Given the description of an element on the screen output the (x, y) to click on. 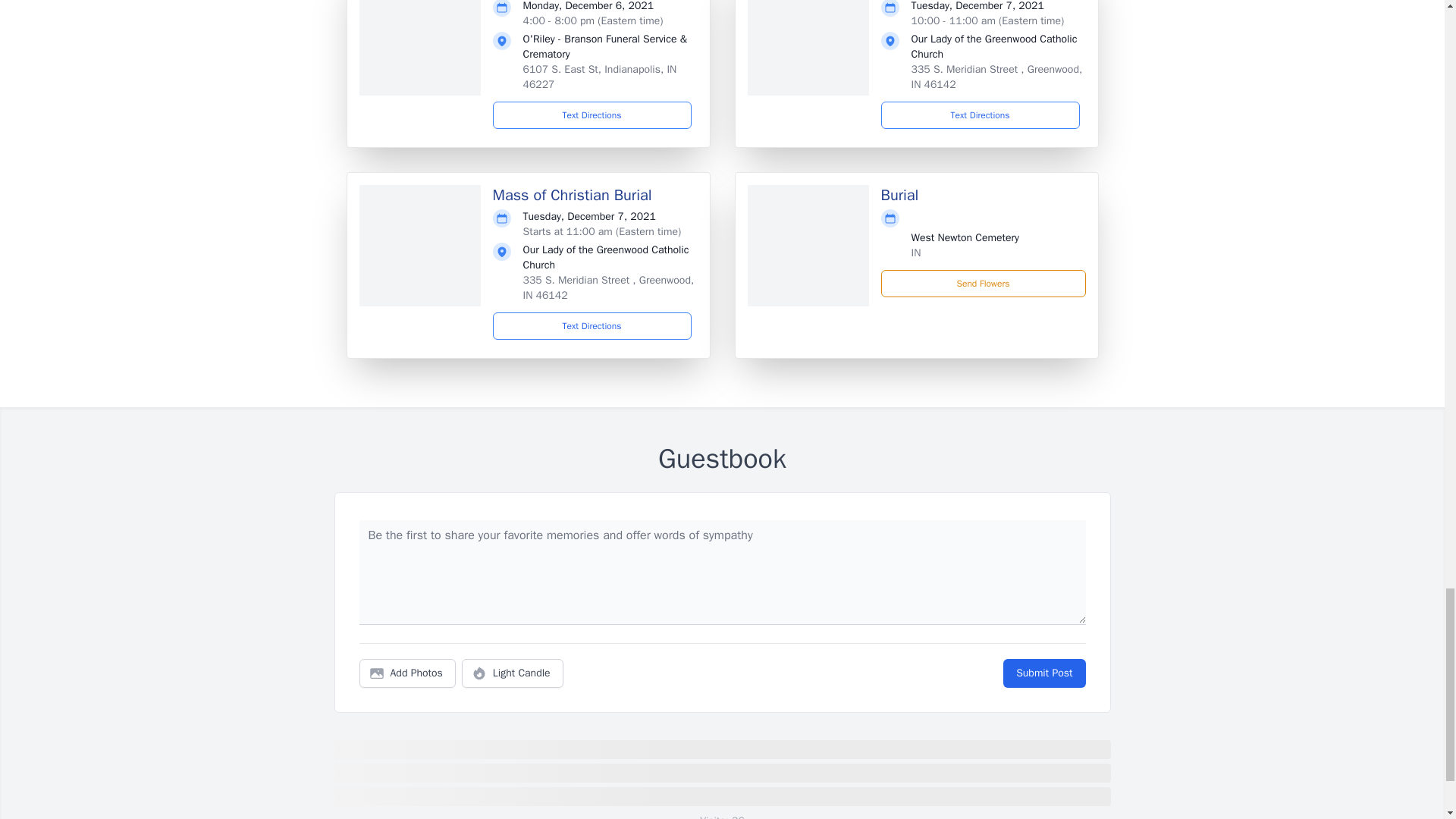
Text Directions (980, 114)
Text Directions (592, 325)
Submit Post (1043, 673)
Send Flowers (983, 283)
335 S. Meridian Street , Greenwood, IN 46142 (608, 287)
Add Photos (407, 673)
Text Directions (592, 114)
335 S. Meridian Street , Greenwood, IN 46142 (997, 76)
Light Candle (512, 673)
6107 S. East St, Indianapolis, IN 46227 (599, 76)
